Given the description of an element on the screen output the (x, y) to click on. 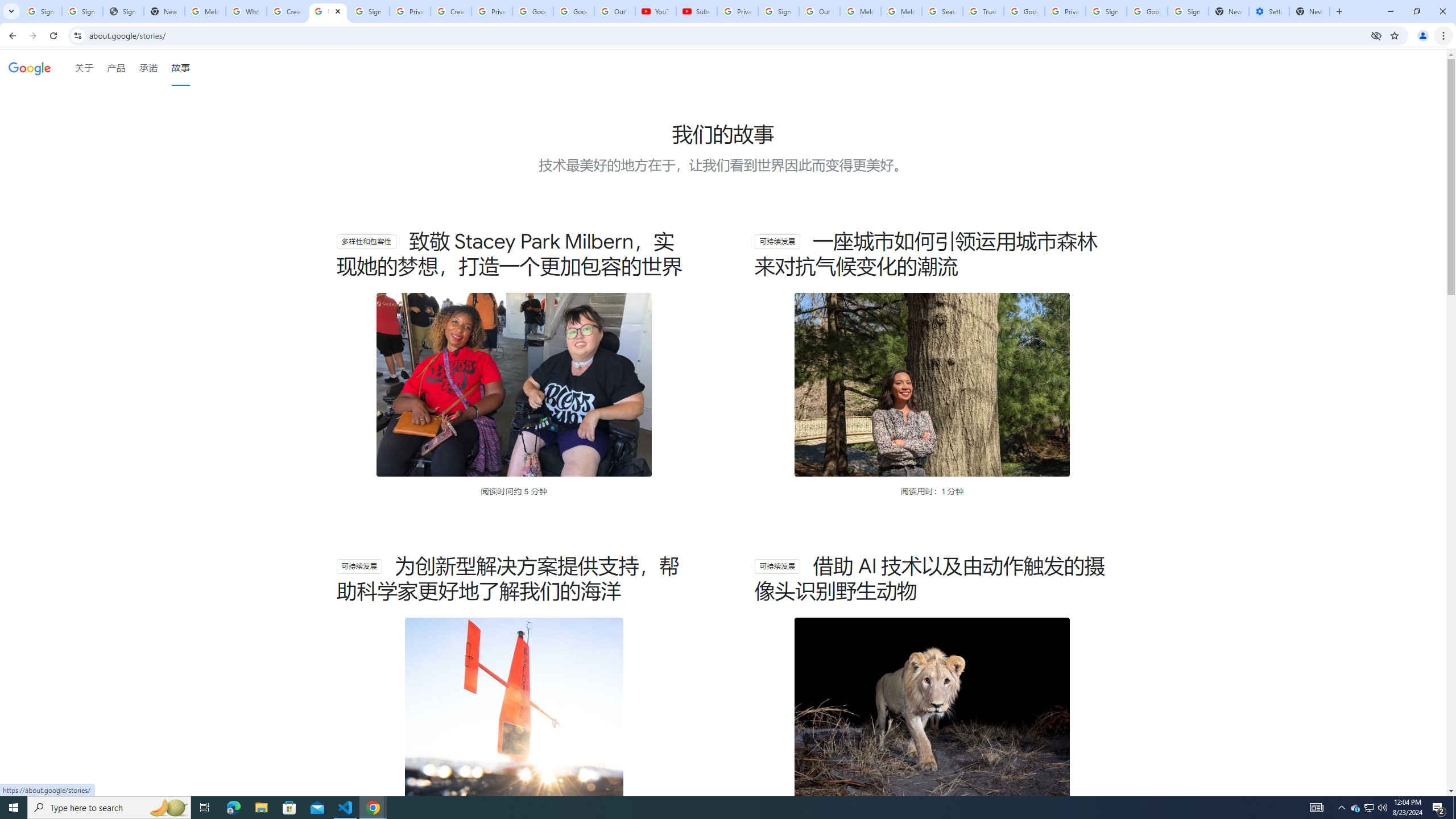
Settings - Addresses and more (1268, 11)
Google Ads - Sign in (1023, 11)
Subscriptions - YouTube (696, 11)
Who is my administrator? - Google Account Help (246, 11)
